Given the description of an element on the screen output the (x, y) to click on. 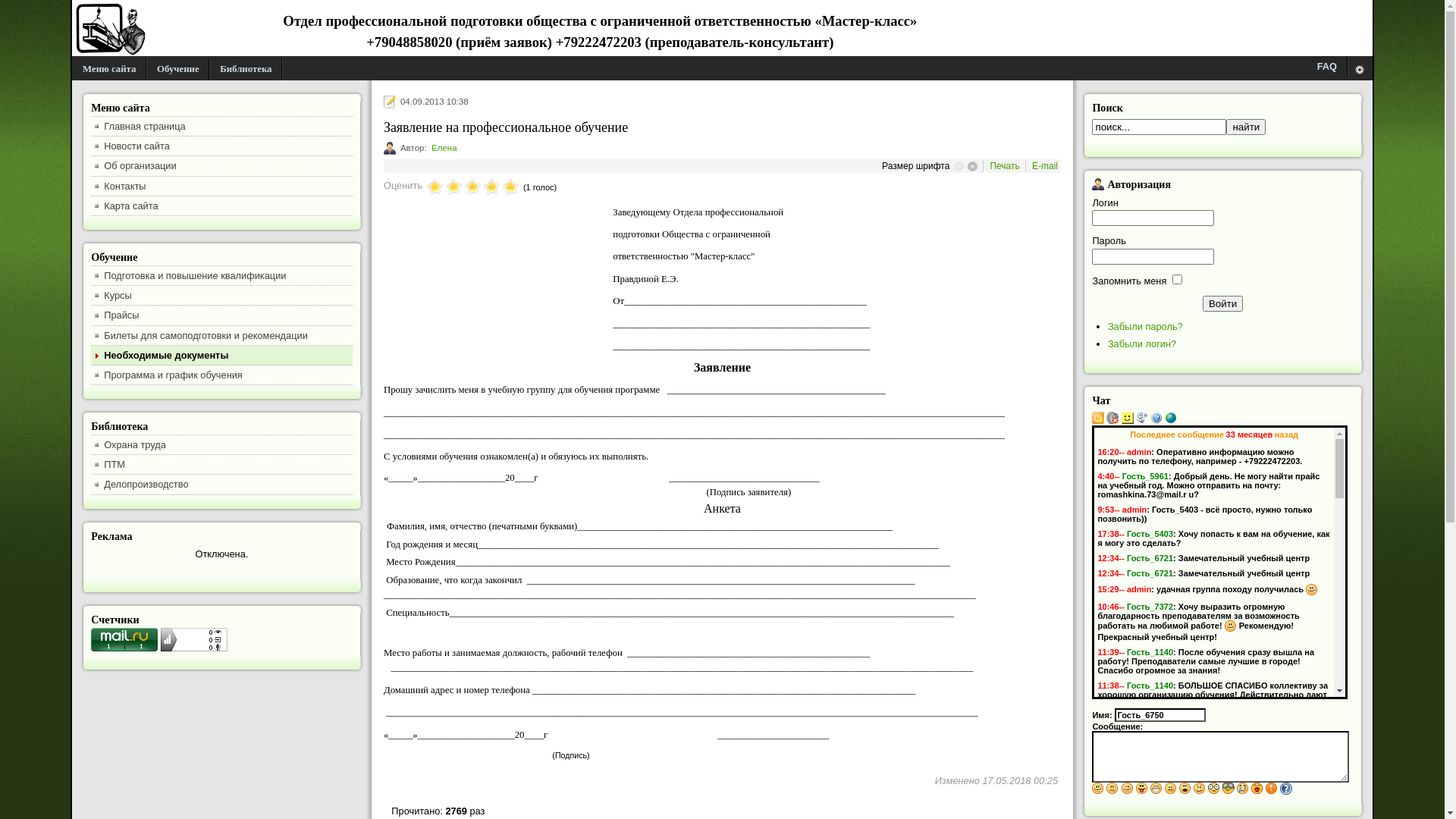
8) Element type: hover (1228, 788)
2 Element type: text (444, 187)
:O Element type: hover (1185, 788)
3 Element type: text (453, 187)
:( Element type: hover (1112, 788)
:D Element type: hover (1156, 788)
:) Element type: hover (1311, 589)
4 Element type: text (463, 187)
FAQ Element type: text (1327, 66)
(!) Element type: hover (1271, 788)
admin Element type: text (1138, 451)
:S Element type: hover (1199, 788)
:-* Element type: hover (1257, 788)
:) Element type: hover (1230, 626)
:) Element type: hover (1313, 714)
:_( Element type: hover (1242, 788)
5 Element type: text (472, 187)
:P Element type: hover (1141, 788)
admin Element type: text (1134, 509)
1 Element type: text (434, 187)
:) Element type: hover (1098, 788)
O.O Element type: hover (1214, 788)
Kide Chat Element type: hover (1170, 420)
;) Element type: hover (1194, 750)
admin Element type: text (1138, 588)
;) Element type: hover (1127, 788)
:| Element type: hover (1170, 788)
(?) Element type: hover (1286, 788)
E-mail Element type: text (1044, 165)
